Given the description of an element on the screen output the (x, y) to click on. 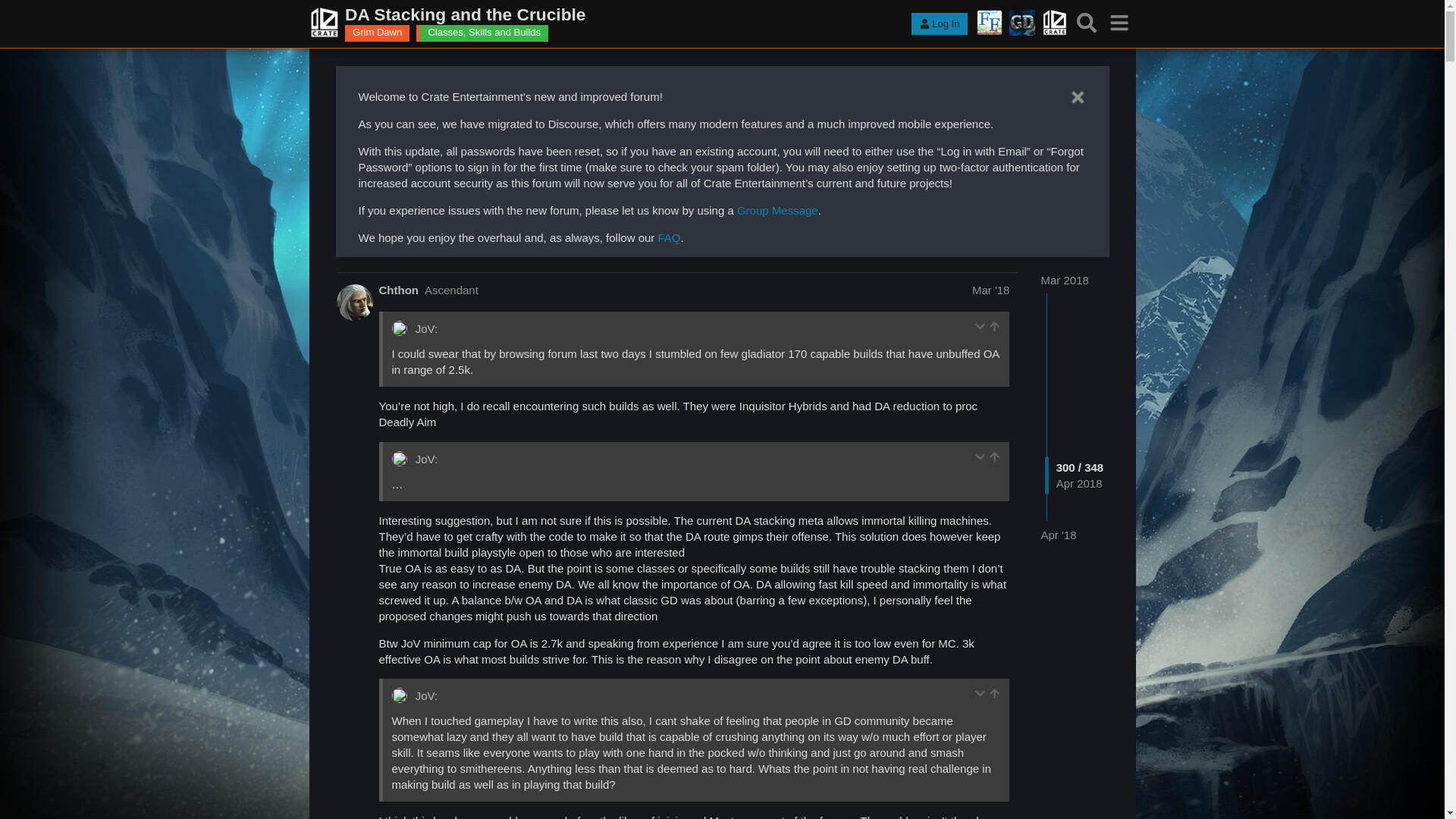
Grim Dawn (377, 33)
Mar '18 (991, 289)
menu (1119, 22)
Dismiss this banner (1077, 97)
Apr 6, 2018 4:23 pm (1058, 534)
DA Stacking and the Crucible (617, 14)
Talk about class and equipment skills and builds. (483, 33)
Log In (939, 24)
Mar 2018 (1064, 279)
Group Message (777, 210)
Chthon (398, 289)
Farthest Frontier (990, 22)
Apr '18 (1058, 534)
go to the quoted post (994, 455)
Search (1086, 22)
